Given the description of an element on the screen output the (x, y) to click on. 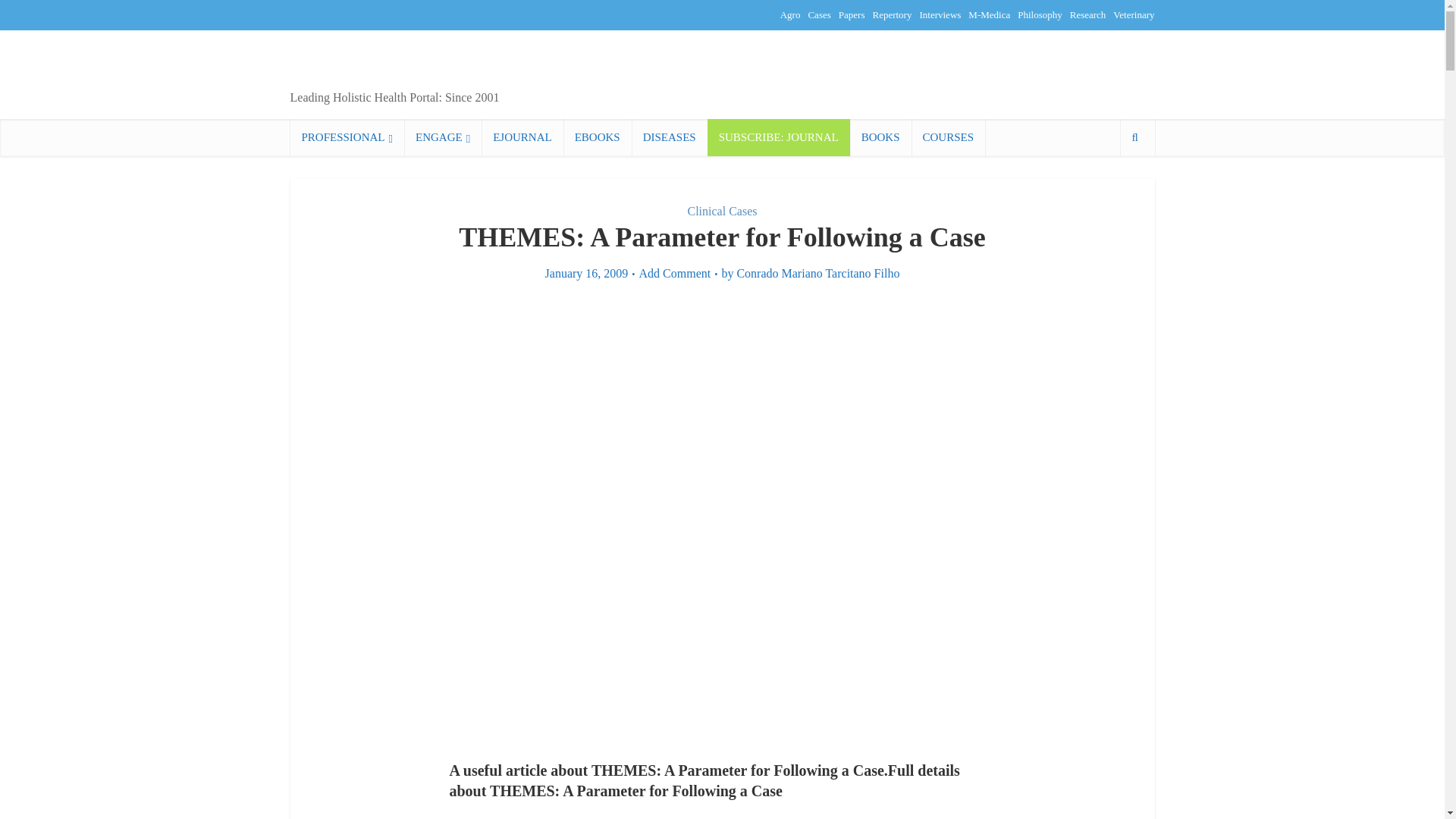
Veterinary (1133, 14)
Philosophy (1039, 14)
Agro (790, 14)
BOOKS (880, 137)
ENGAGE (442, 137)
Interviews (939, 14)
Repertory (891, 14)
DISEASES (669, 137)
EJOURNAL (522, 137)
COURSES (948, 137)
